Given the description of an element on the screen output the (x, y) to click on. 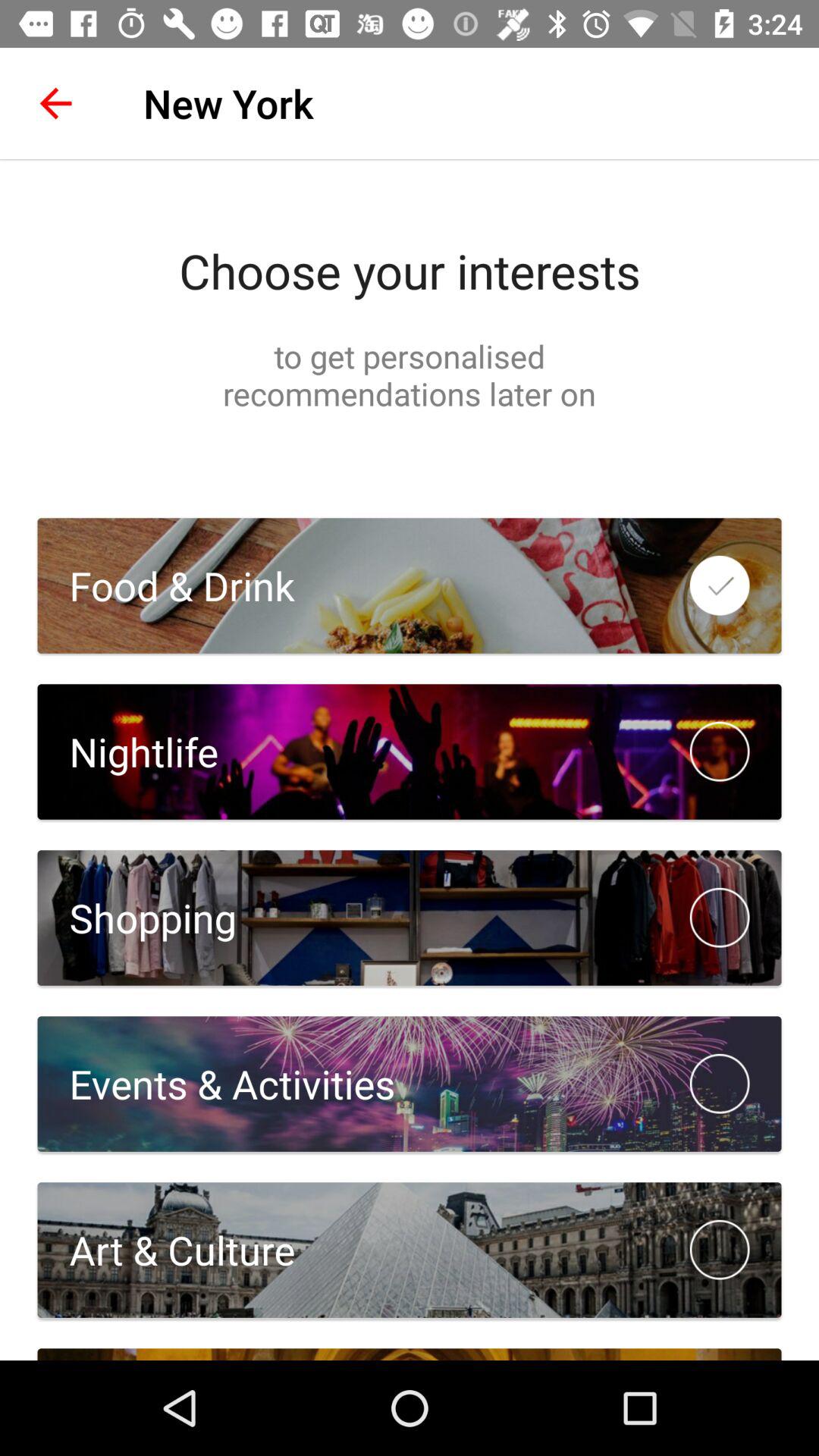
swipe until the events & activities (216, 1083)
